Given the description of an element on the screen output the (x, y) to click on. 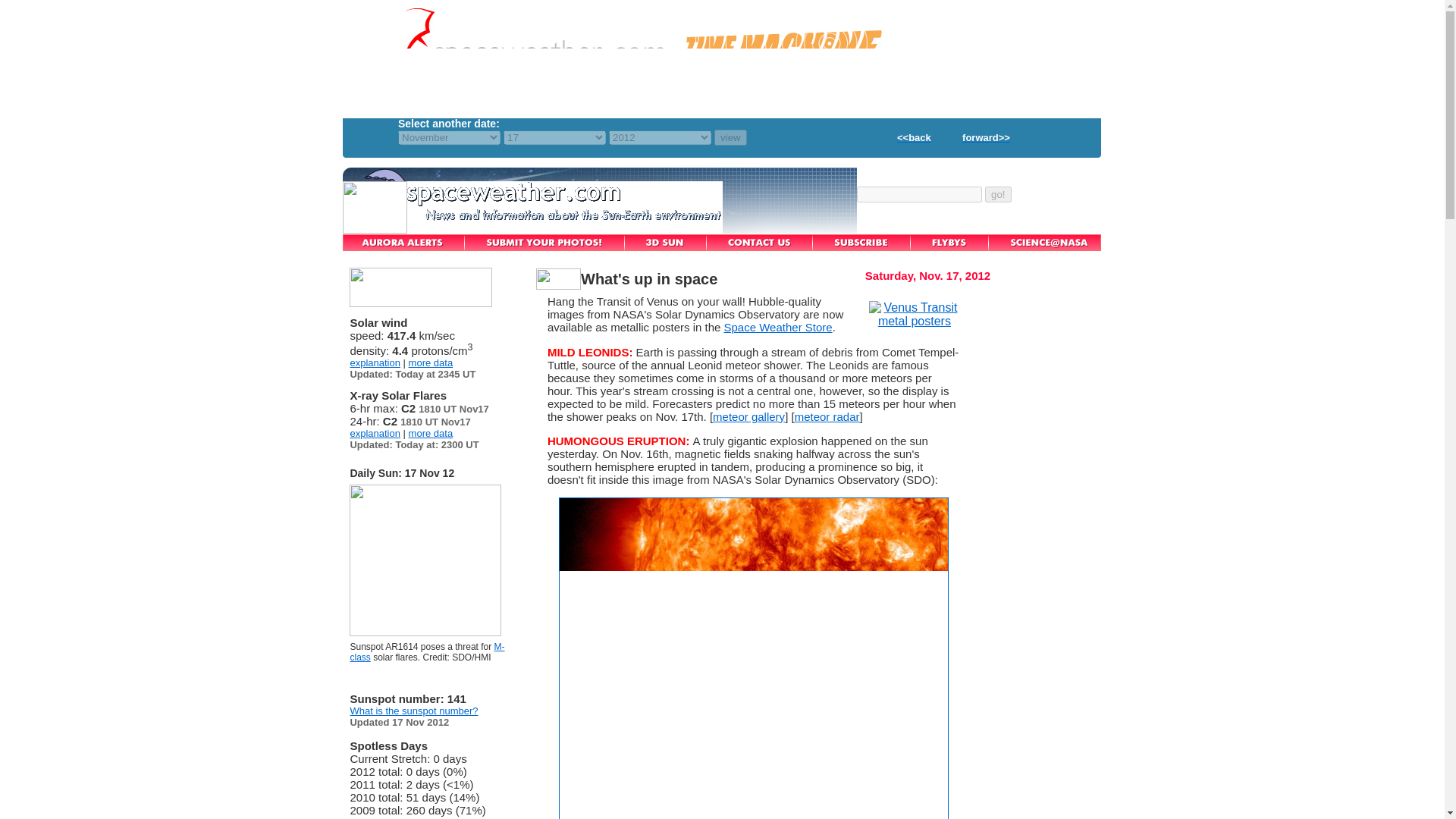
explanation (374, 362)
more data (430, 432)
explanation (374, 432)
meteor radar (827, 416)
What is the sunspot number? (413, 710)
go! (998, 194)
Space Weather Store (777, 327)
view (730, 137)
go! (998, 194)
view (730, 137)
